Given the description of an element on the screen output the (x, y) to click on. 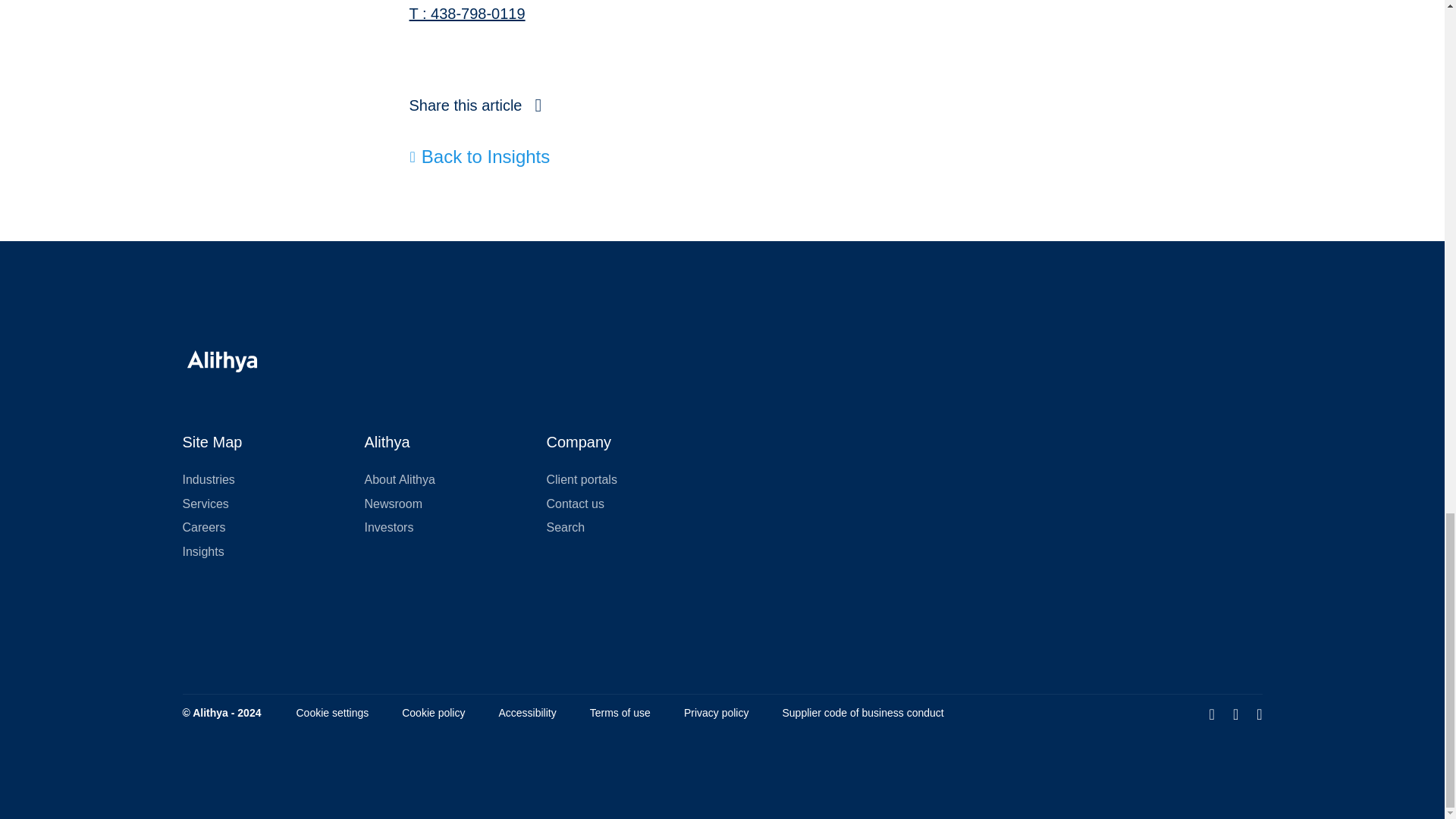
Back to Insights (480, 156)
Search (565, 526)
Newsroom (393, 503)
Toggle the cookie consent settings tray (331, 712)
